Given the description of an element on the screen output the (x, y) to click on. 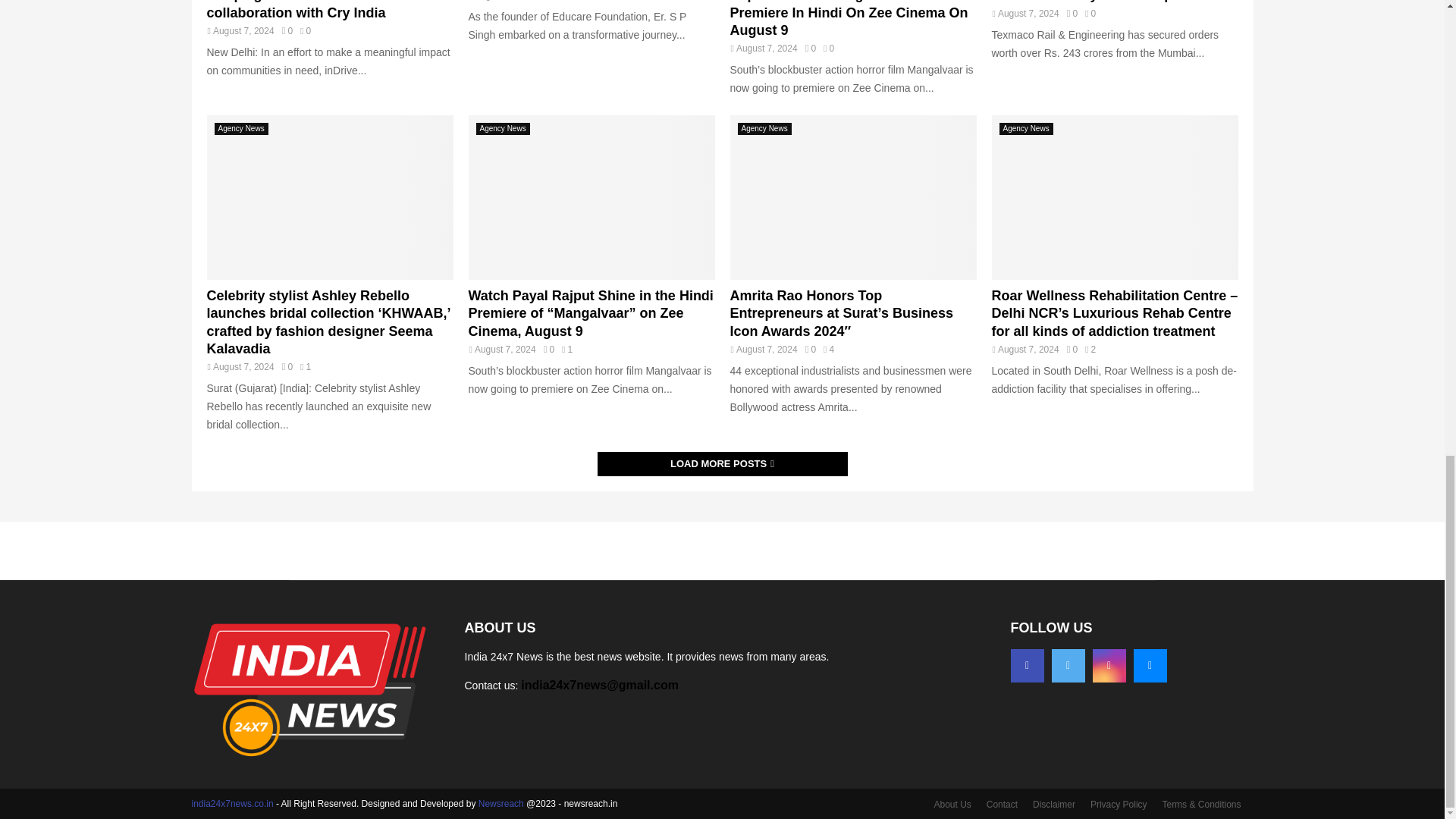
0 (1072, 13)
0 (810, 48)
View all posts in Agency News (240, 128)
0 (287, 366)
Agency News (240, 128)
0 (287, 30)
